Given the description of an element on the screen output the (x, y) to click on. 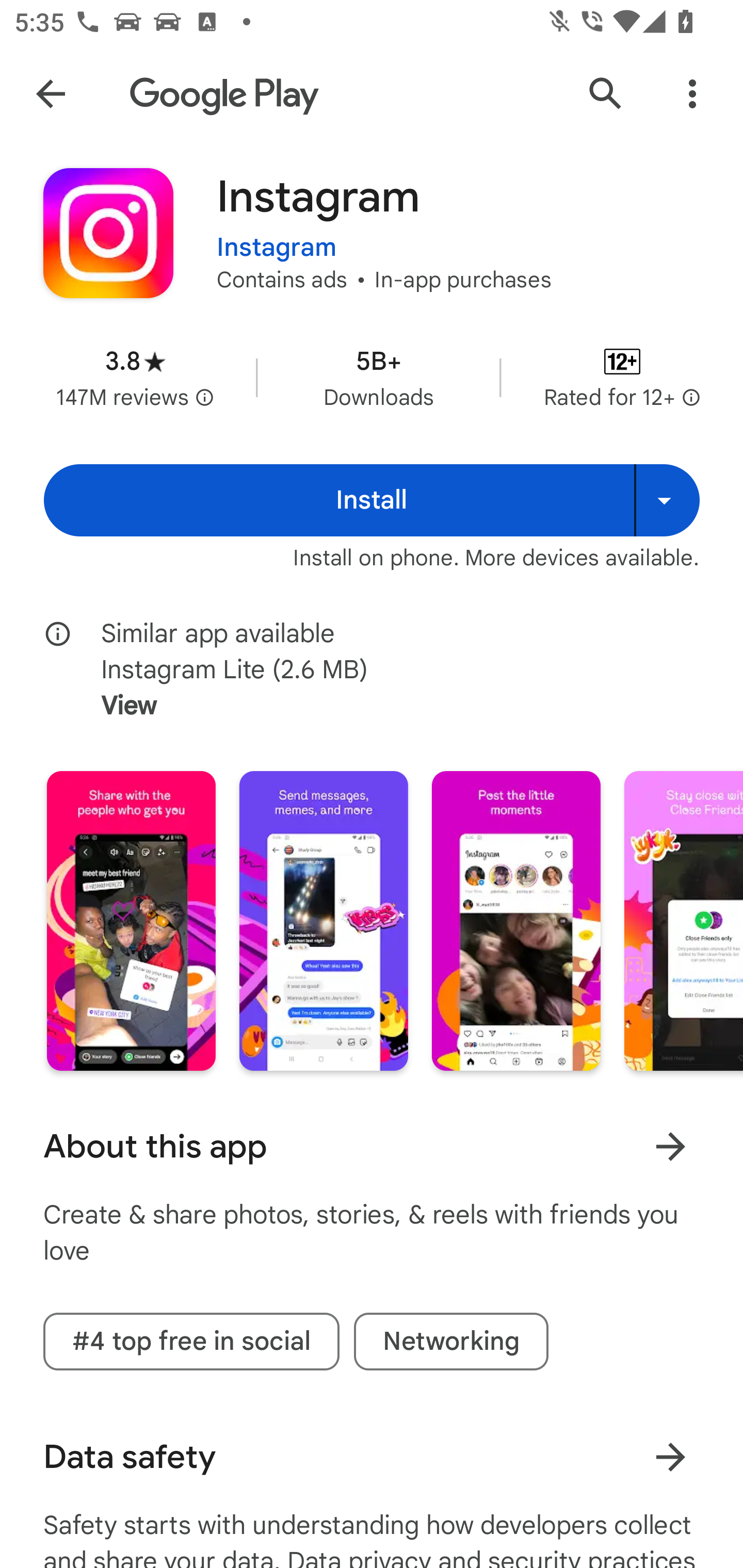
Navigate up (50, 93)
Search Google Play (605, 93)
More Options (692, 93)
Instagram (276, 233)
Average rating 3.8 stars in 147 million reviews (135, 377)
Content rating Rated for 12+ (622, 377)
Install Install Install on more devices (371, 500)
Install on more devices (667, 500)
Similar app available
Instagram Lite (2.6 MB)
View (385, 670)
Screenshot "1" of "6" (130, 920)
Screenshot "2" of "6" (323, 920)
Screenshot "3" of "6" (515, 920)
Screenshot "4" of "6" (683, 920)
About this app Learn more About this app (371, 1146)
Learn more About this app (670, 1146)
#4 top free in social tag (191, 1341)
Networking tag (450, 1341)
Data safety Learn more about data safety (371, 1457)
Learn more about data safety (670, 1457)
